Given the description of an element on the screen output the (x, y) to click on. 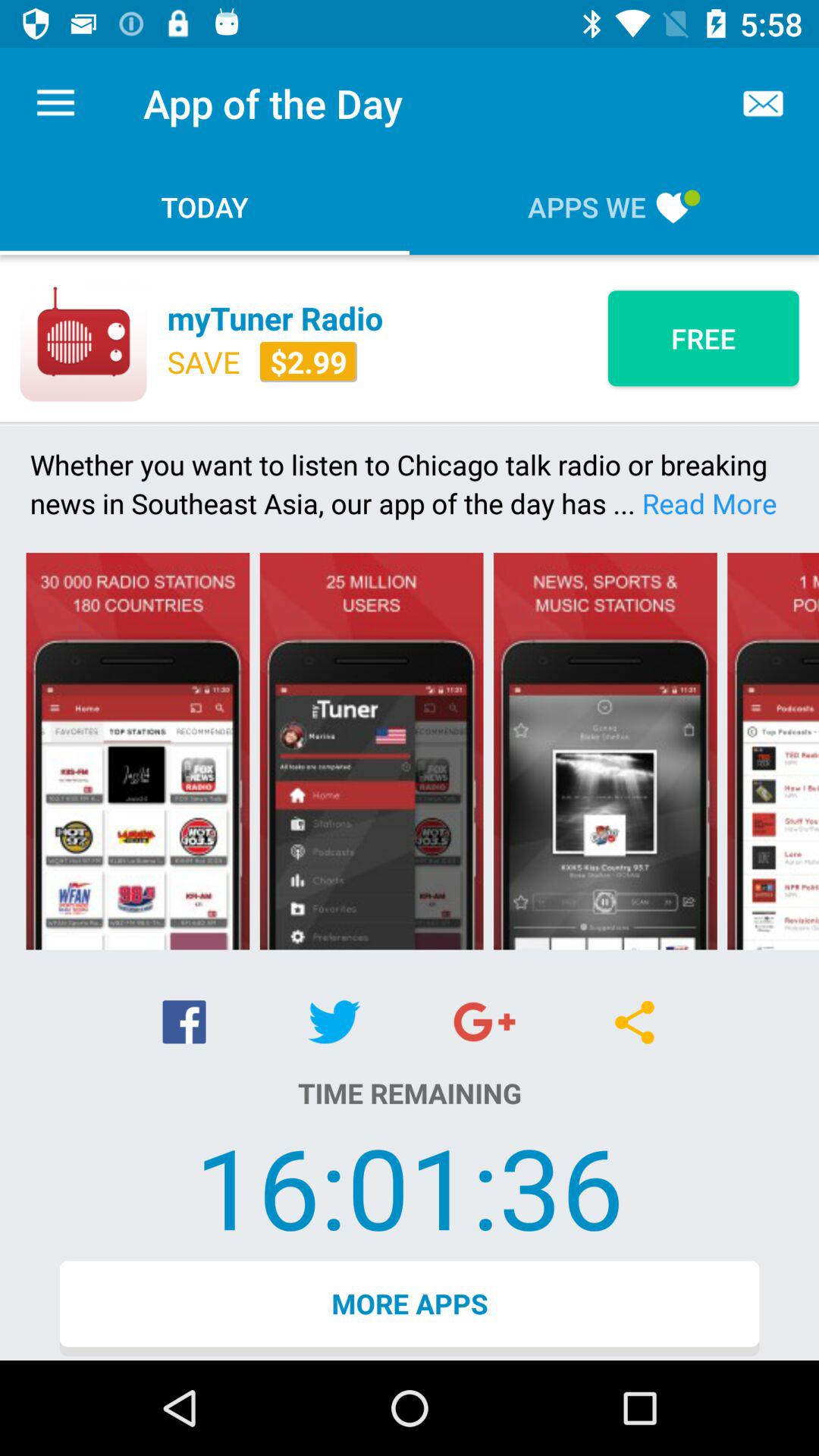
choose the item below apps we icon (703, 338)
